Given the description of an element on the screen output the (x, y) to click on. 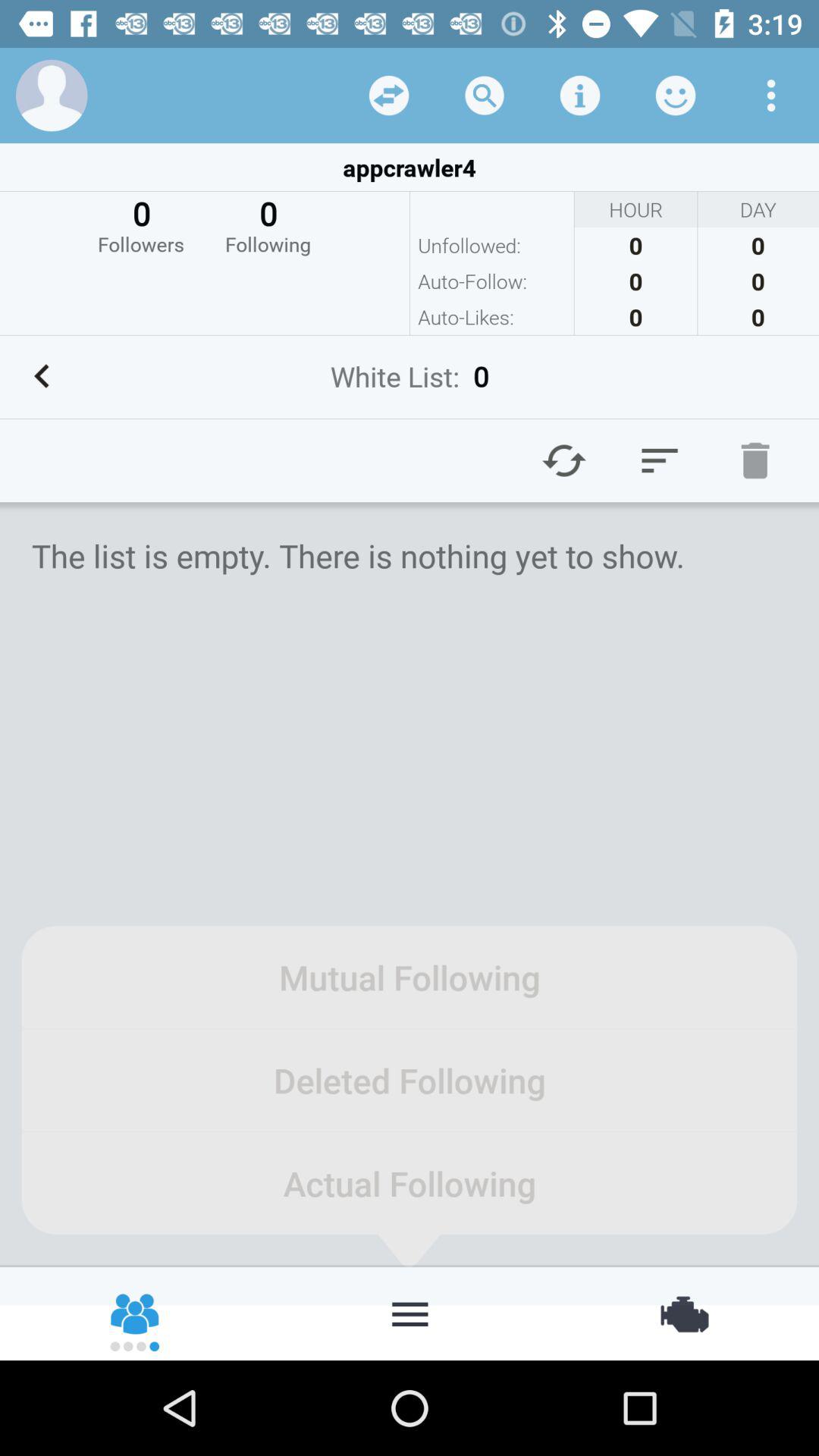
back to home (409, 1312)
